Given the description of an element on the screen output the (x, y) to click on. 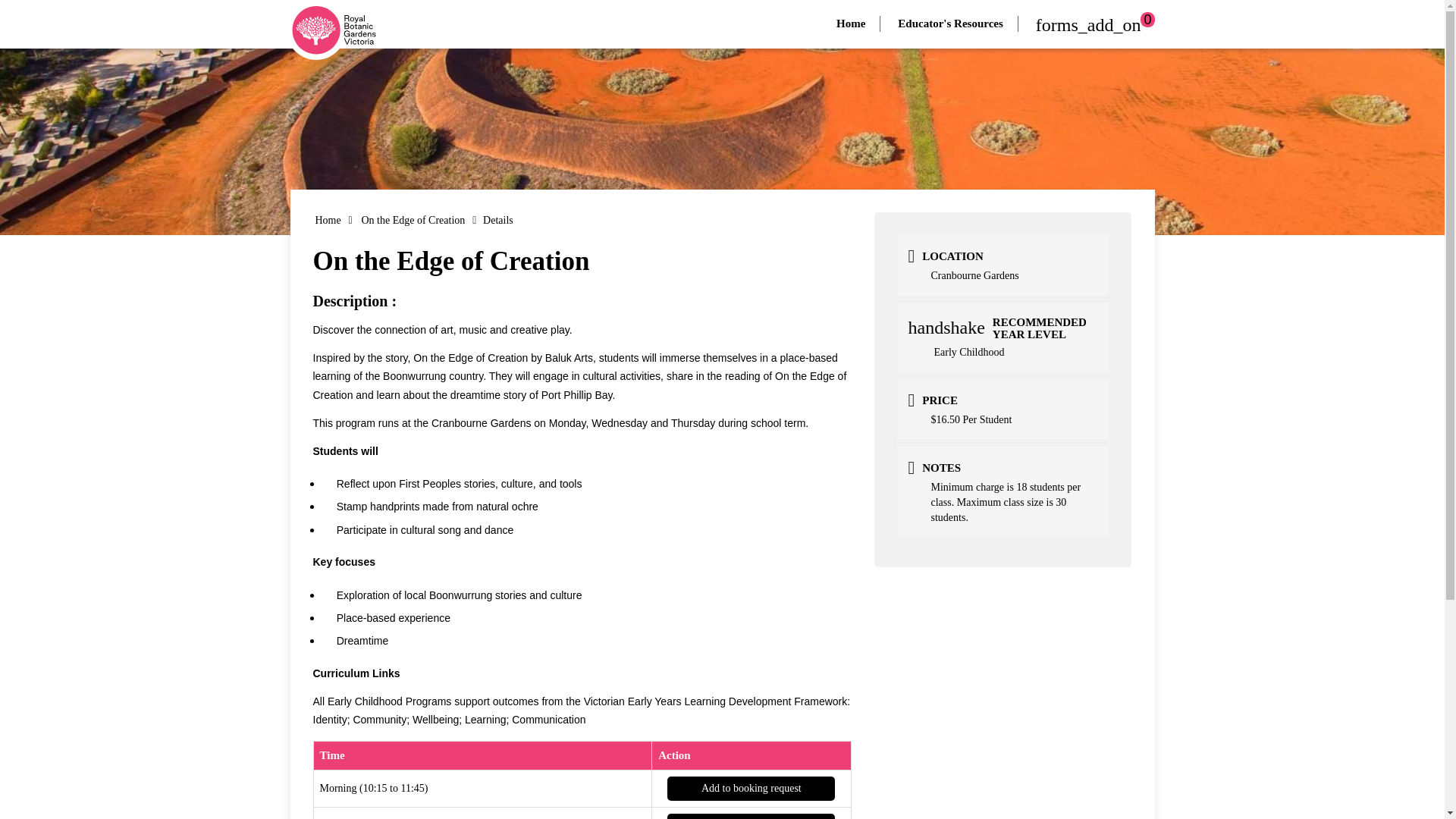
Educator's Resources (949, 23)
Add to booking request (750, 788)
Add to booking request (750, 816)
On the Edge of Creation (412, 220)
Home (850, 23)
Home (327, 220)
